Given the description of an element on the screen output the (x, y) to click on. 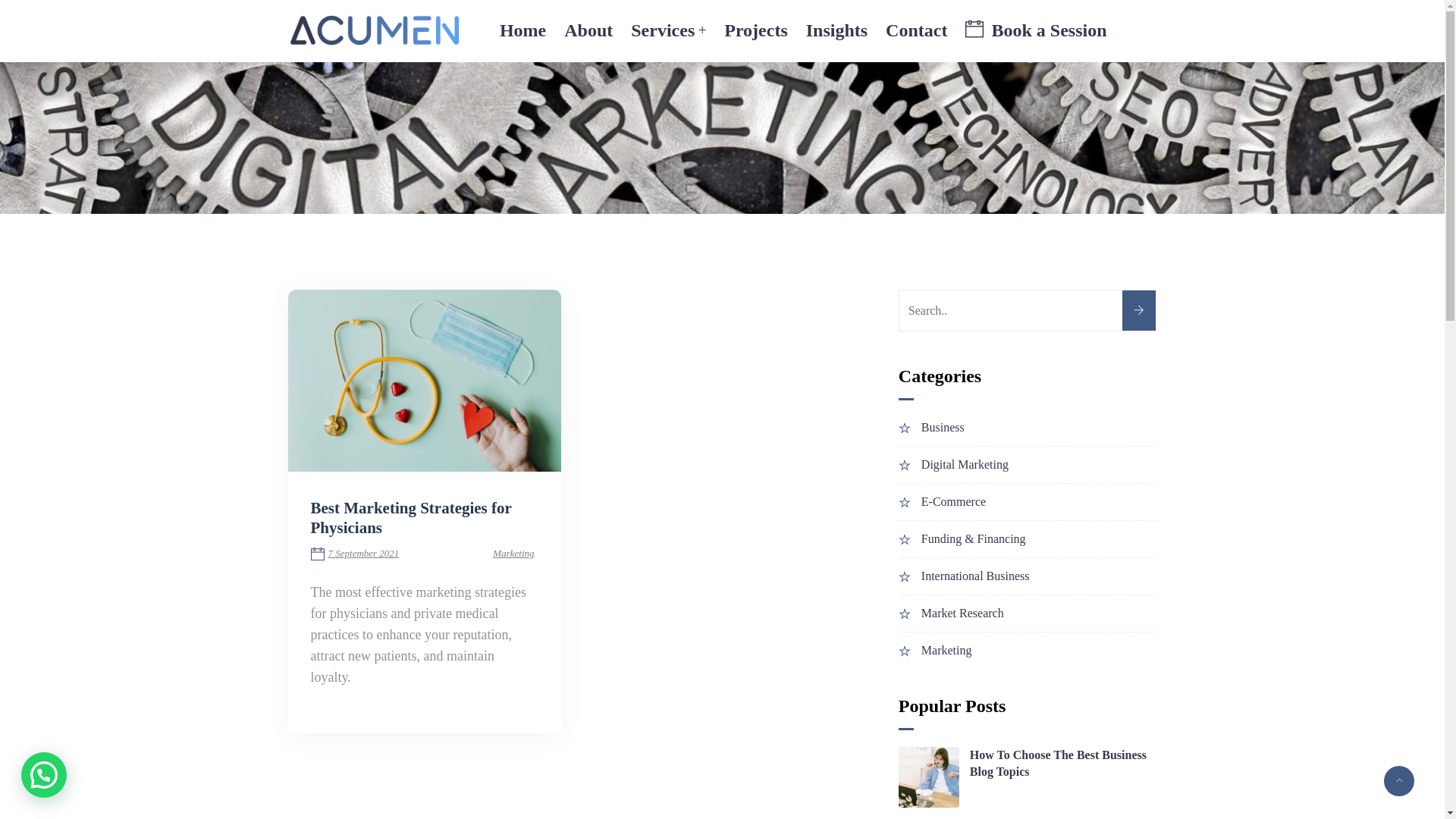
International Business Element type: text (975, 575)
Services Element type: text (668, 30)
Book a Session Element type: text (1031, 30)
Digital Marketing Element type: text (964, 464)
Acumen Business Consulting Element type: hover (373, 31)
Marketing Element type: text (513, 553)
Business Element type: text (942, 426)
How To Choose The Best Business Blog Topics Element type: text (1063, 763)
Home Element type: text (527, 30)
Contact Element type: text (916, 30)
Marketing Element type: text (946, 649)
E-Commerce Element type: text (953, 501)
Market Research Element type: text (962, 612)
Insights Element type: text (836, 30)
Best Marketing Strategies for Physicians Element type: text (410, 517)
Acumen Business Consulting Element type: hover (373, 30)
Projects Element type: text (756, 30)
7 September 2021 Element type: text (362, 552)
About Element type: text (588, 30)
Funding & Financing Element type: text (973, 538)
